Given the description of an element on the screen output the (x, y) to click on. 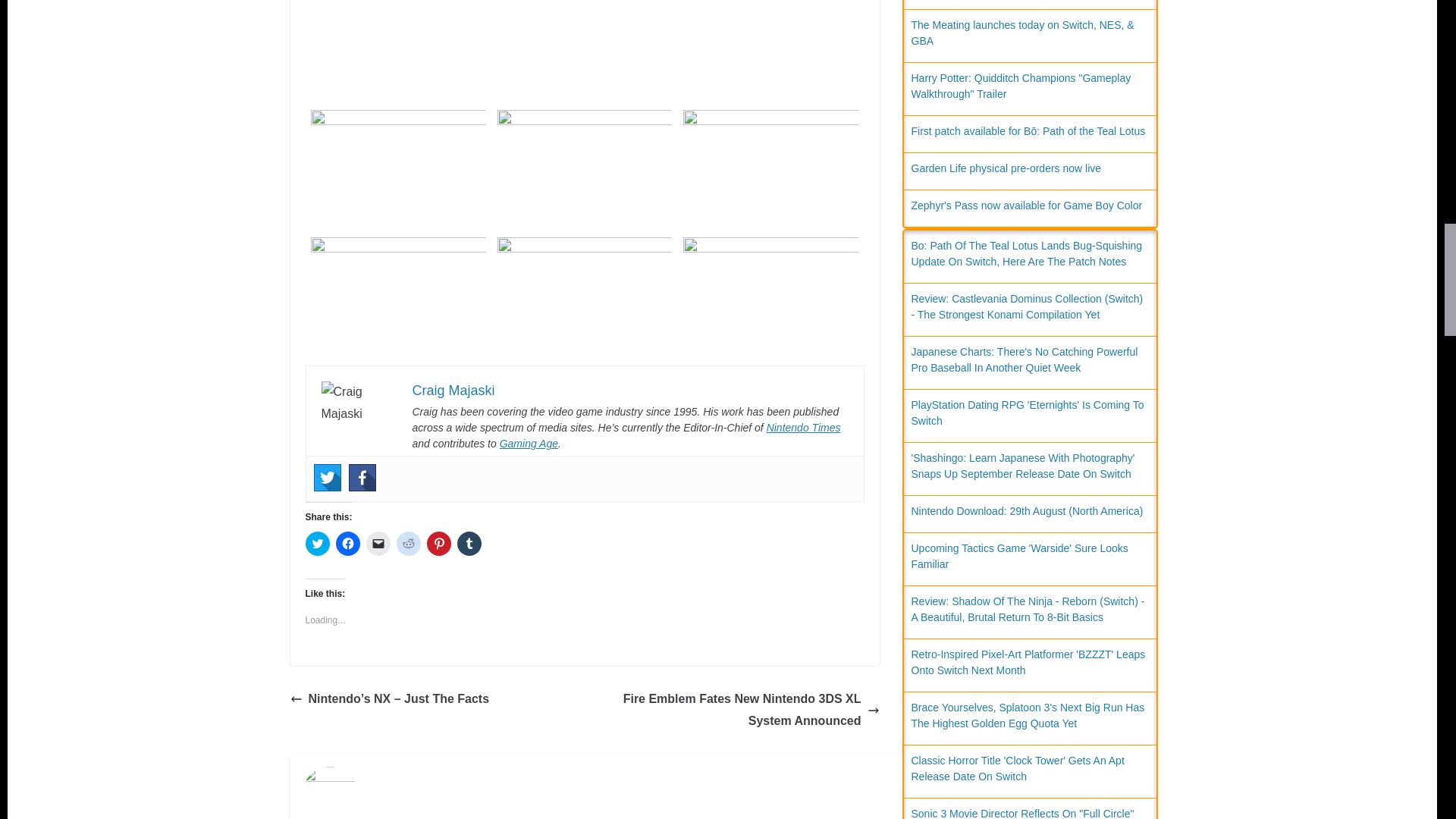
Click to share on Pinterest (437, 543)
Click to email a link to a friend (377, 543)
Click to share on Facebook (346, 543)
Facebook (362, 477)
Click to share on Tumblr (468, 543)
Twitter (327, 477)
Click to share on Twitter (316, 543)
Click to share on Reddit (408, 543)
